Given the description of an element on the screen output the (x, y) to click on. 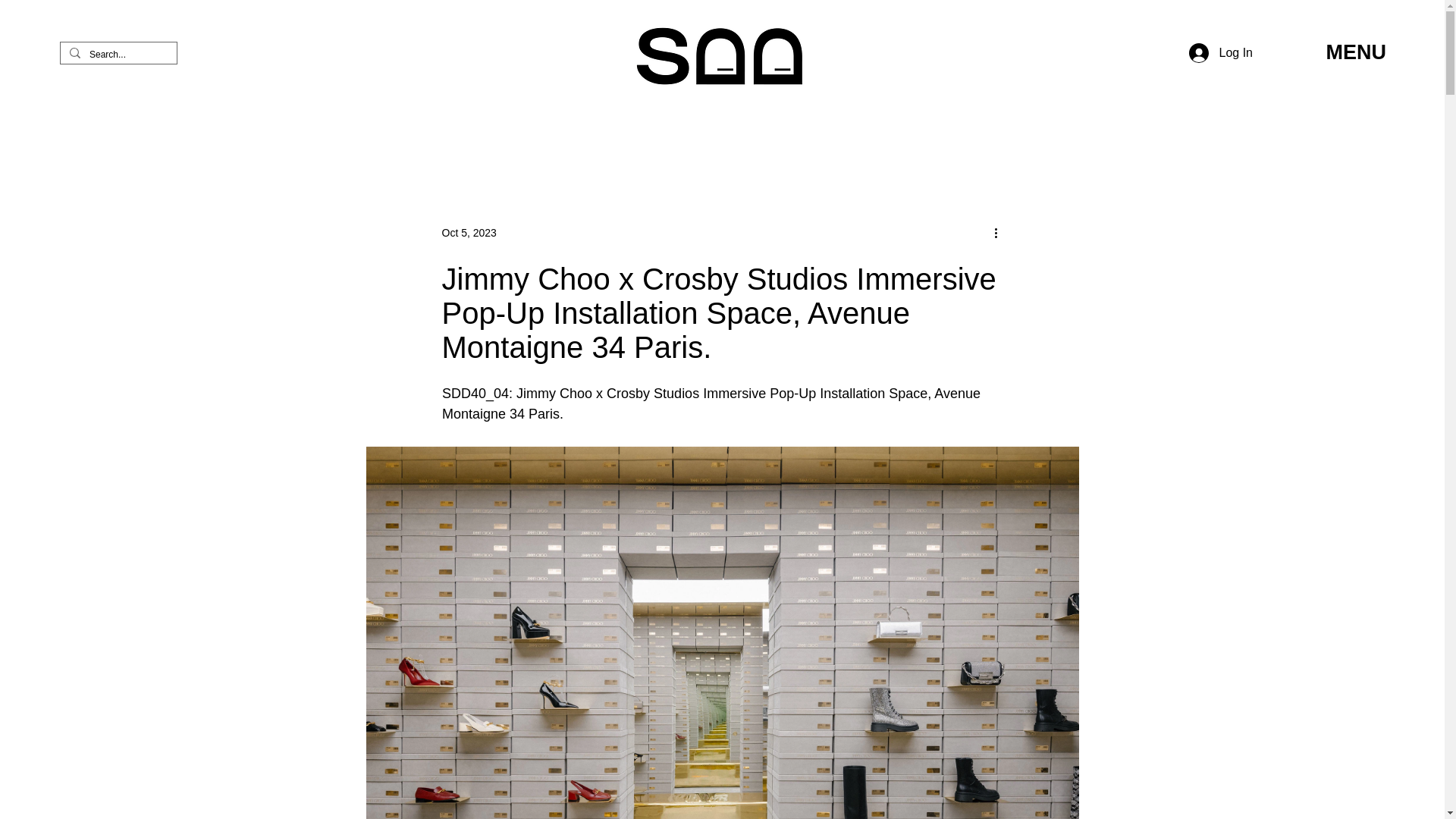
Log In (1220, 52)
MENU (1355, 51)
Oct 5, 2023 (468, 232)
